Given the description of an element on the screen output the (x, y) to click on. 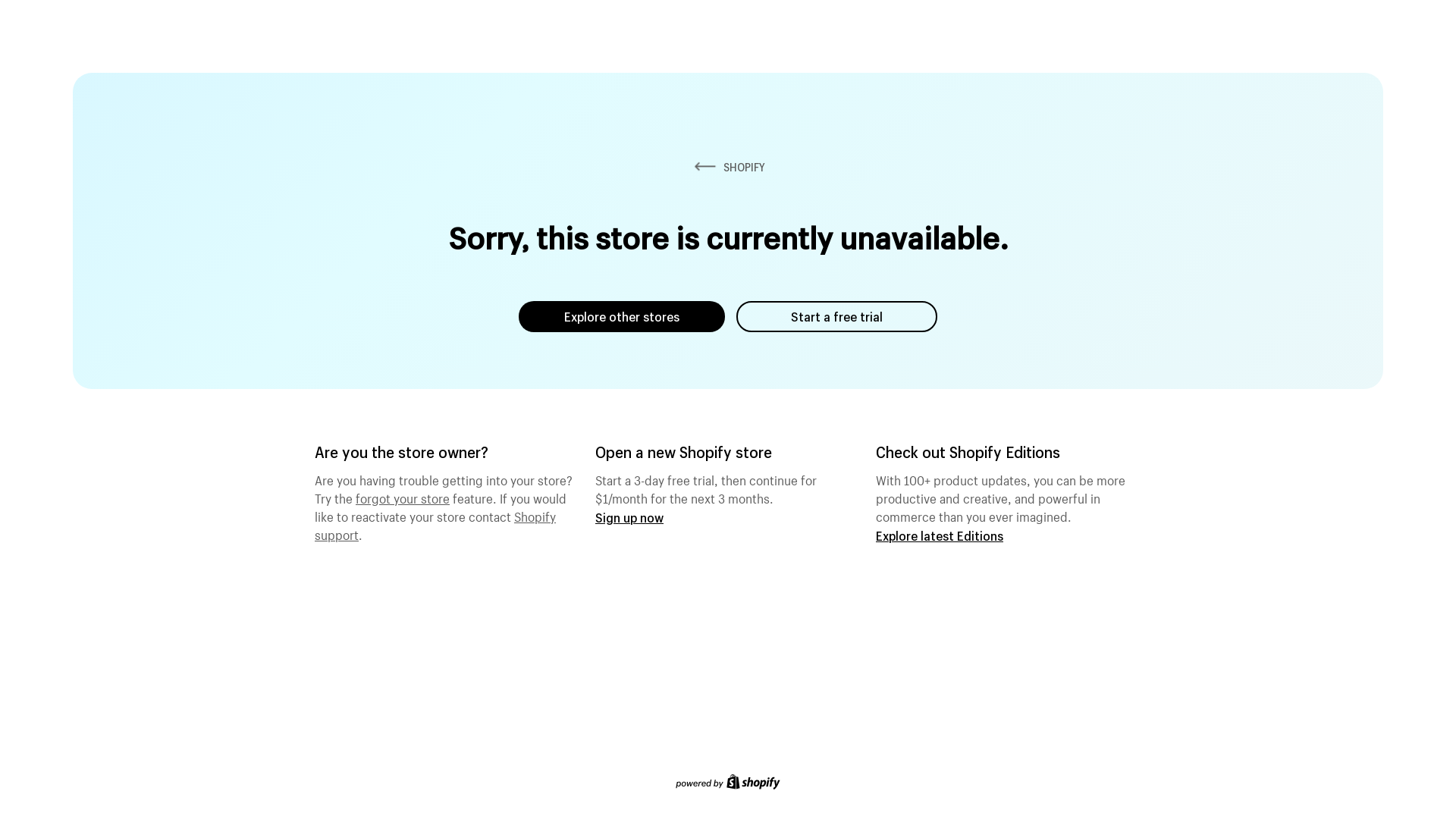
Sign up now Element type: text (629, 517)
SHOPIFY Element type: text (727, 167)
Shopify support Element type: text (434, 523)
Explore latest Editions Element type: text (939, 535)
forgot your store Element type: text (402, 496)
Start a free trial Element type: text (836, 316)
Explore other stores Element type: text (621, 316)
